Given the description of an element on the screen output the (x, y) to click on. 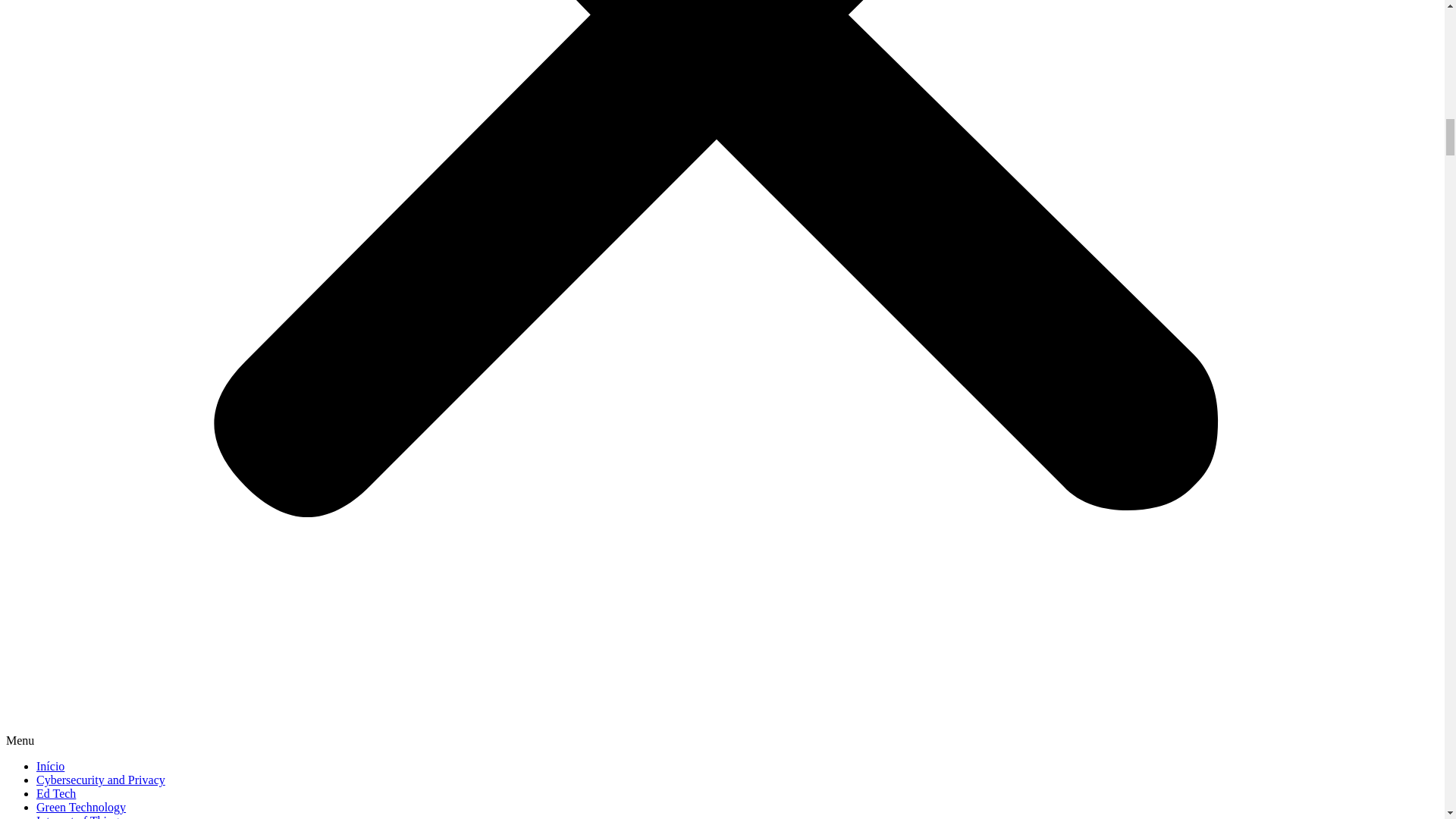
Green Technology (80, 807)
Ed Tech (55, 793)
Internet of Things (79, 816)
Cybersecurity and Privacy (100, 779)
